Given the description of an element on the screen output the (x, y) to click on. 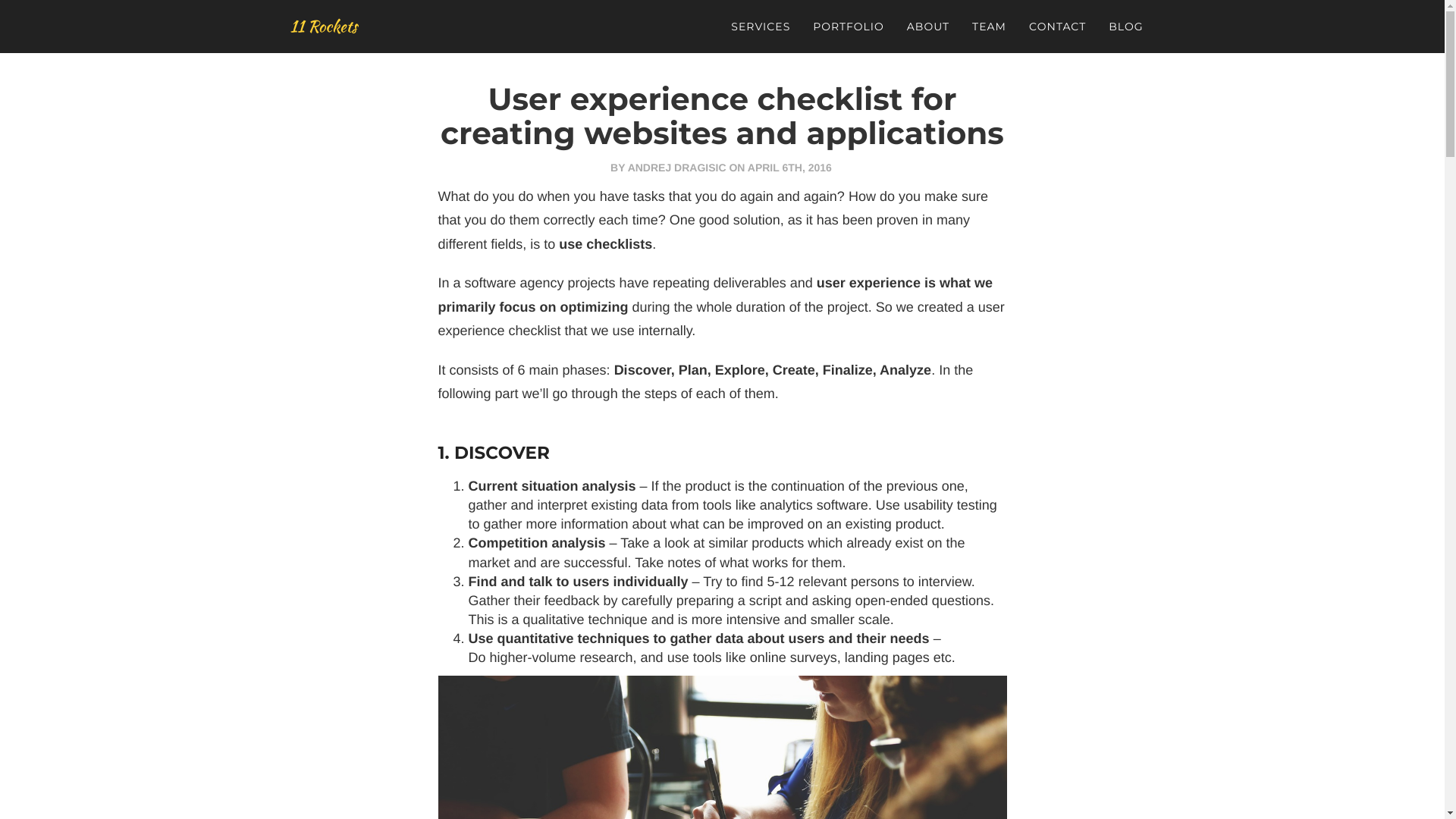
ABOUT Element type: text (927, 26)
BLOG Element type: text (1125, 26)
TEAM Element type: text (988, 26)
11 Rockets Element type: text (324, 26)
PORTFOLIO Element type: text (848, 26)
CONTACT Element type: text (1057, 26)
SERVICES Element type: text (760, 26)
